Given the description of an element on the screen output the (x, y) to click on. 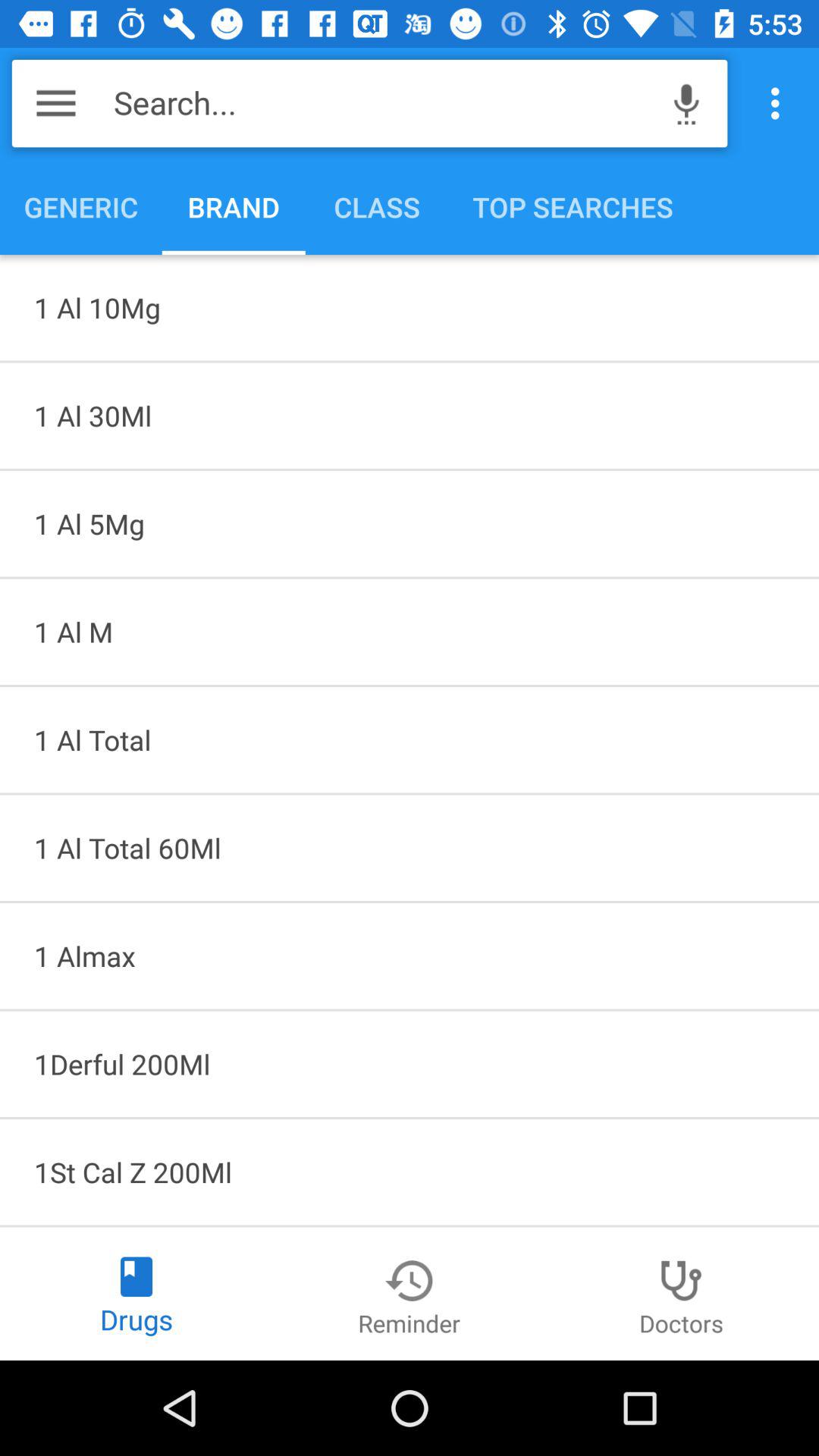
flip to the 1st cal z (409, 1171)
